Given the description of an element on the screen output the (x, y) to click on. 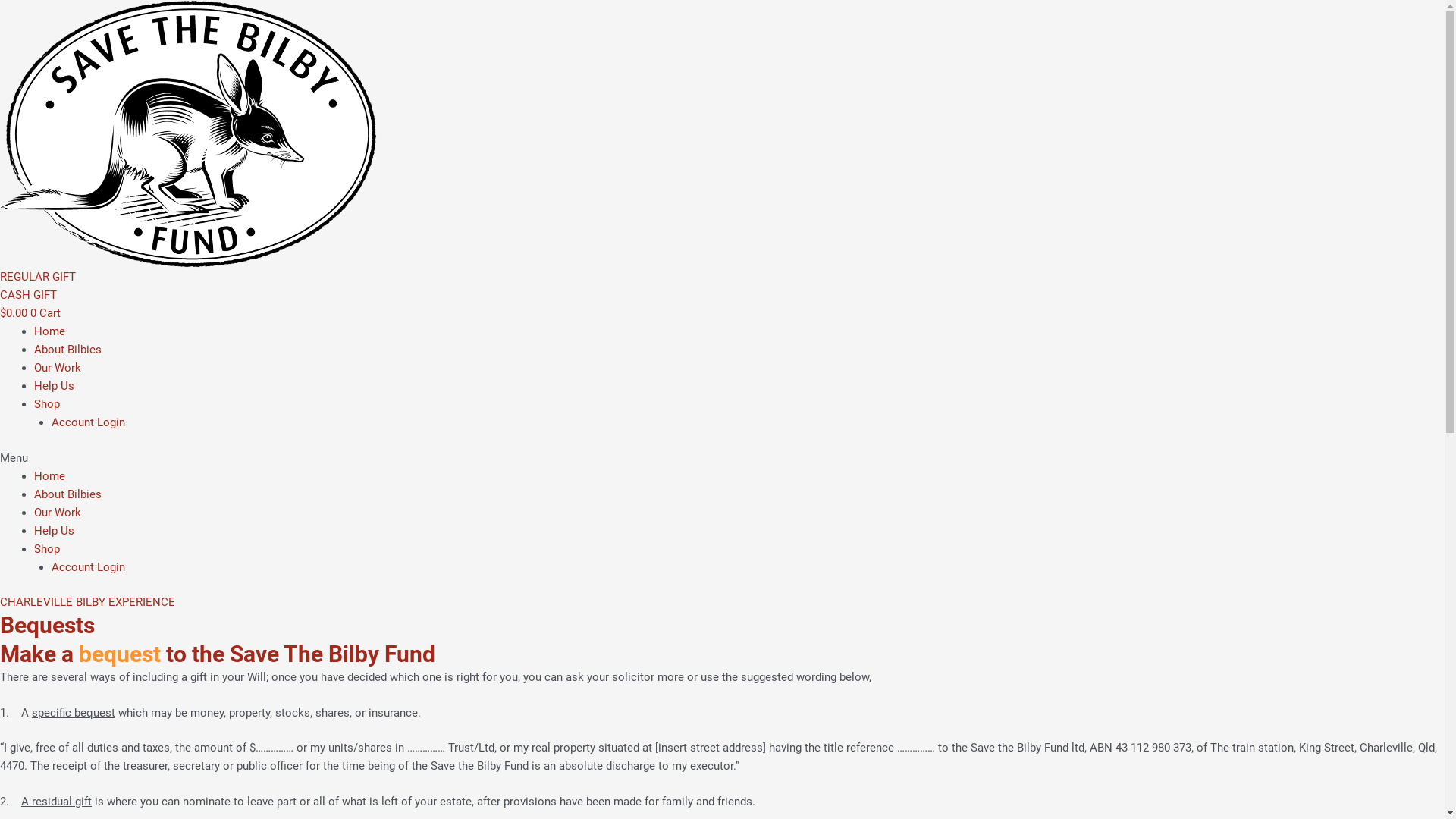
Home Element type: text (49, 331)
Home Element type: text (49, 475)
Account Login Element type: text (88, 422)
About Bilbies Element type: text (67, 349)
Our Work Element type: text (57, 367)
Shop Element type: text (46, 548)
$0.00 0 Cart Element type: text (30, 313)
Our Work Element type: text (57, 511)
Shop Element type: text (46, 404)
Account Login Element type: text (88, 566)
Help Us Element type: text (54, 385)
About Bilbies Element type: text (67, 493)
CASH GIFT Element type: text (28, 294)
REGULAR GIFT Element type: text (37, 276)
CHARLEVILLE BILBY EXPERIENCE Element type: text (87, 601)
Help Us Element type: text (54, 529)
